Given the description of an element on the screen output the (x, y) to click on. 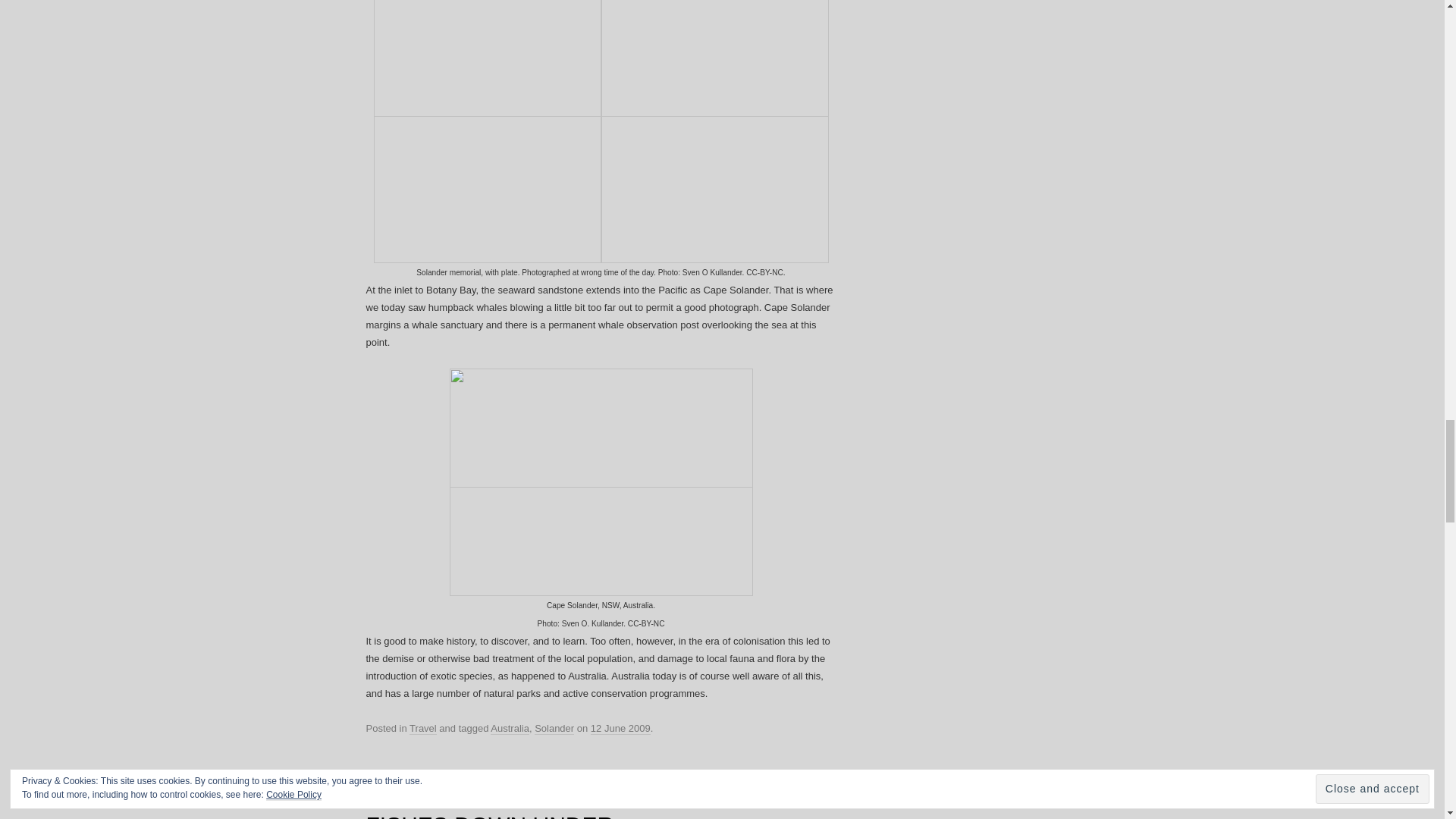
09:59 (620, 728)
Solander (553, 728)
12 June 2009 (620, 728)
Australia (509, 728)
Travel (422, 728)
